Given the description of an element on the screen output the (x, y) to click on. 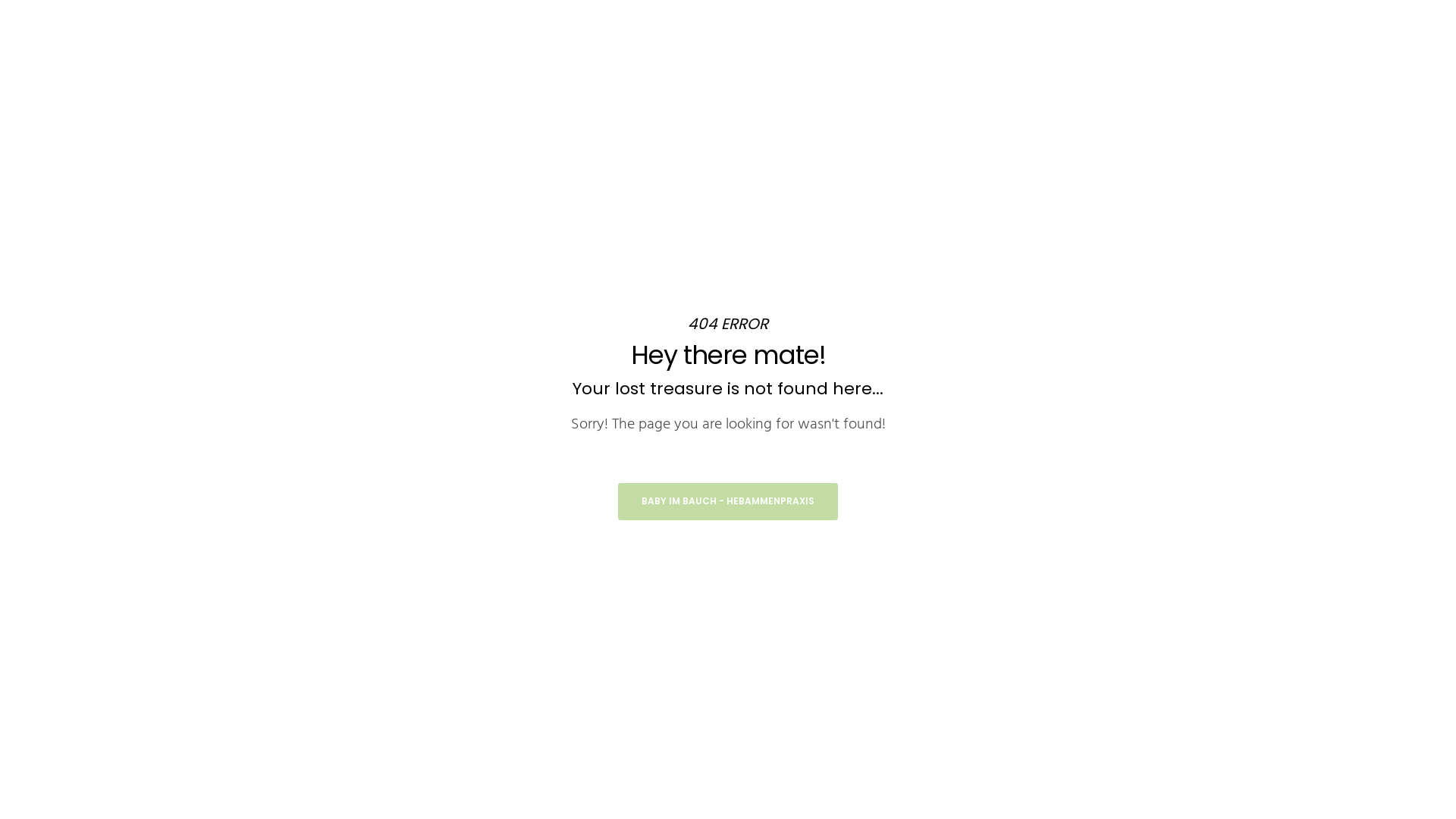
BABY IM BAUCH - HEBAMMENPRAXIS Element type: text (727, 501)
